Given the description of an element on the screen output the (x, y) to click on. 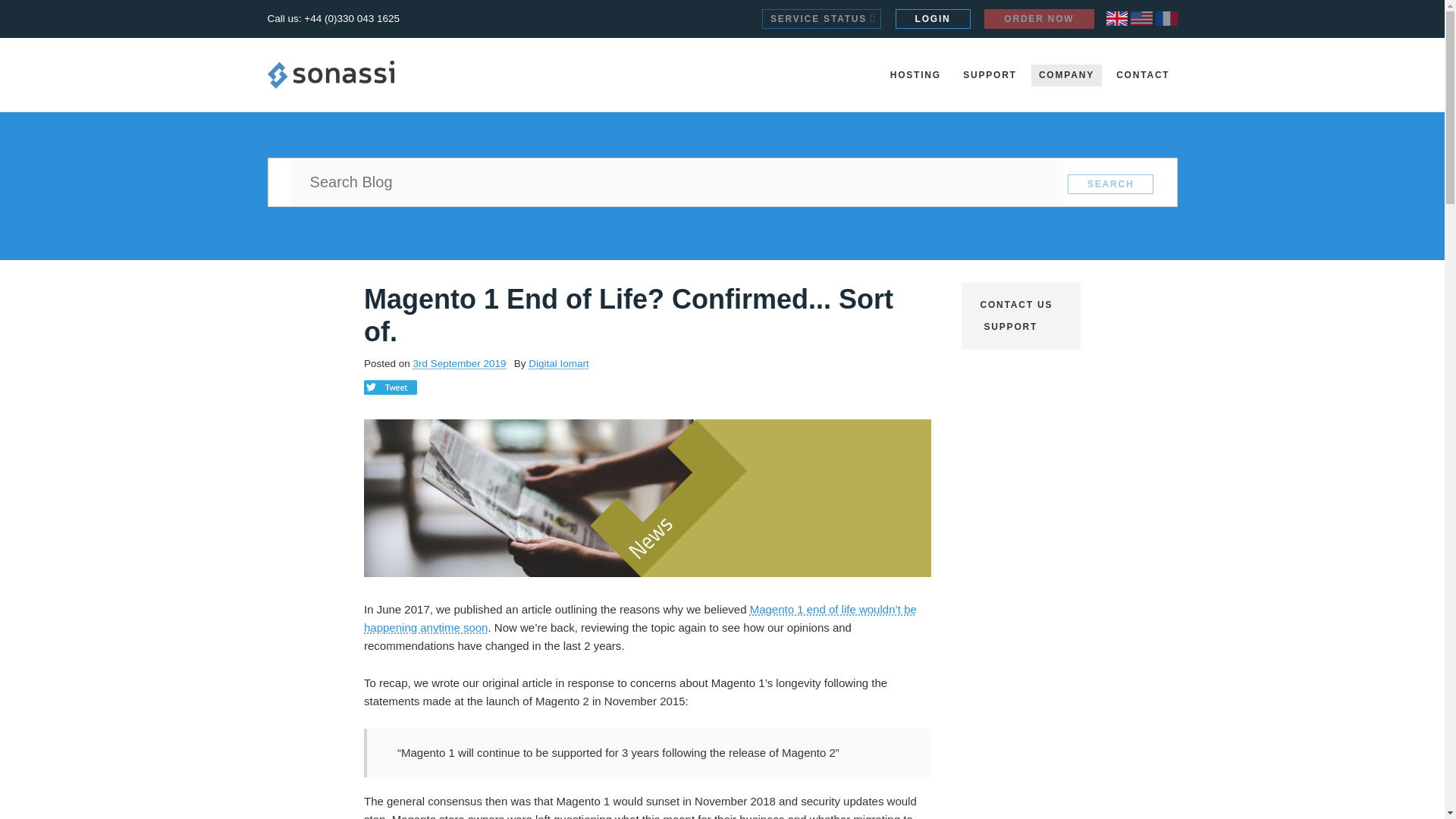
CONTACT US (1015, 305)
Search for: (676, 182)
HOSTING (915, 75)
SUPPORT (990, 75)
COMPANY (1066, 75)
SERVICE STATUS (820, 18)
Search (1110, 184)
SUPPORT (1010, 327)
LOGIN (933, 18)
ORDER NOW (1038, 18)
Search (1110, 184)
Search (1110, 184)
CONTACT (1142, 75)
3rd September 2019 (459, 363)
Digital Iomart (558, 363)
